Given the description of an element on the screen output the (x, y) to click on. 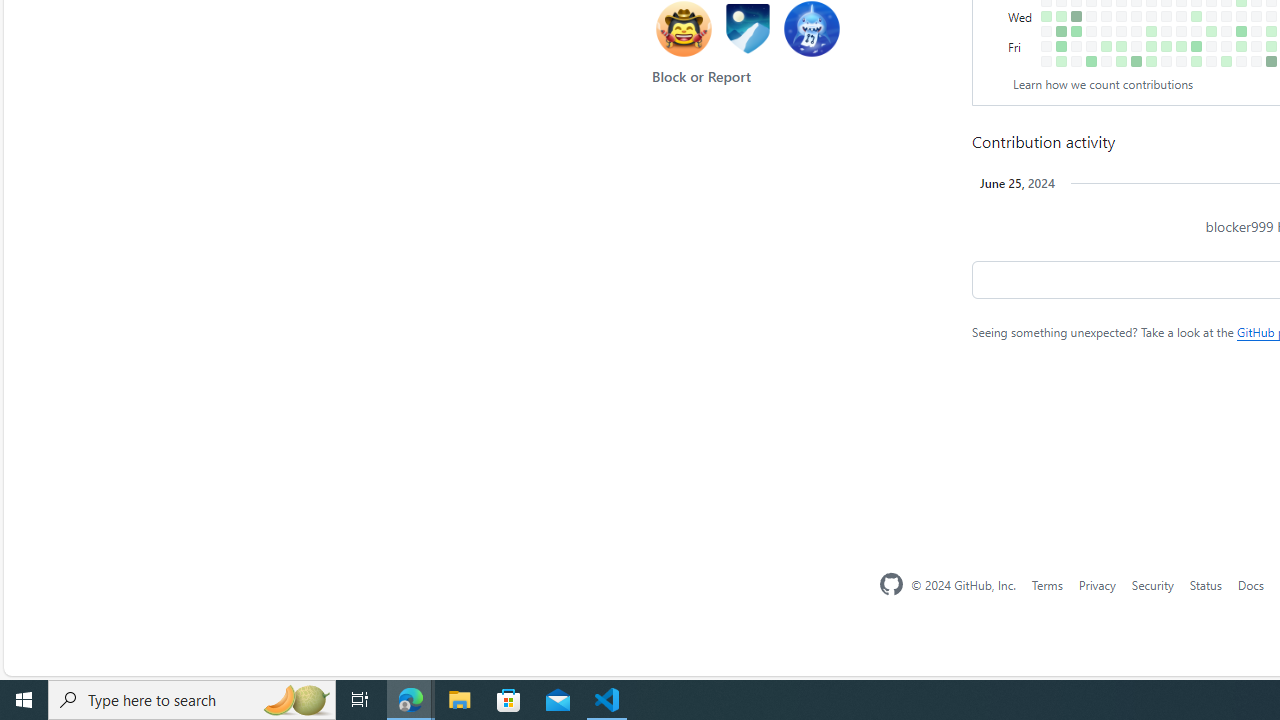
Security (1152, 584)
No contributions on February 3rd. (1106, 61)
Security (1152, 584)
3 contributions on March 16th. (1195, 61)
12 contributions on April 20th. (1271, 61)
3 contributions on February 10th. (1121, 61)
No contributions on April 13th. (1256, 61)
Status (1205, 584)
No contributions on March 23rd. (1211, 61)
No contributions on March 9th. (1181, 61)
No contributions on April 6th. (1241, 61)
No contributions on January 6th. (1046, 61)
Docs (1250, 584)
